Given the description of an element on the screen output the (x, y) to click on. 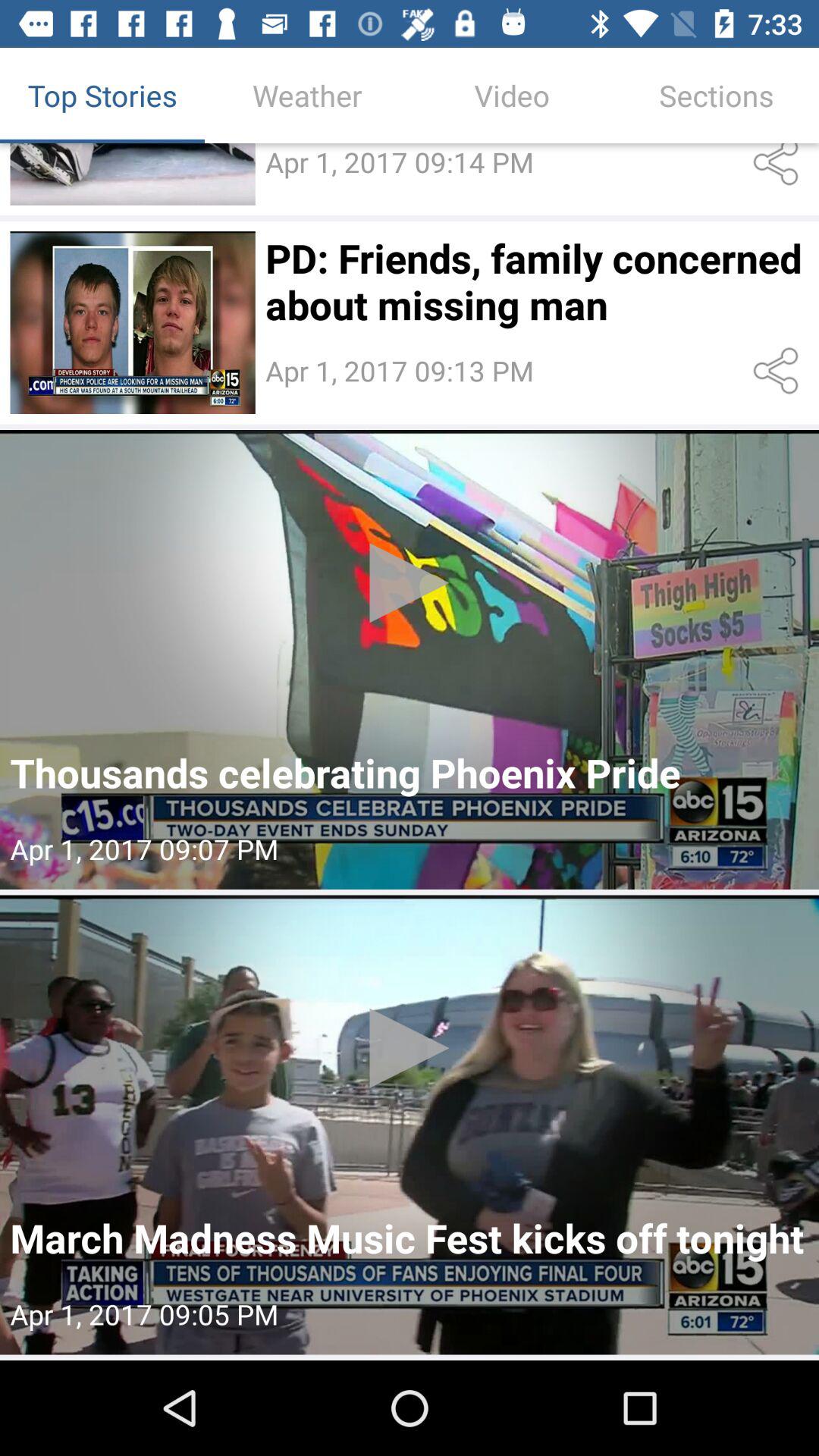
view larger image (132, 174)
